Given the description of an element on the screen output the (x, y) to click on. 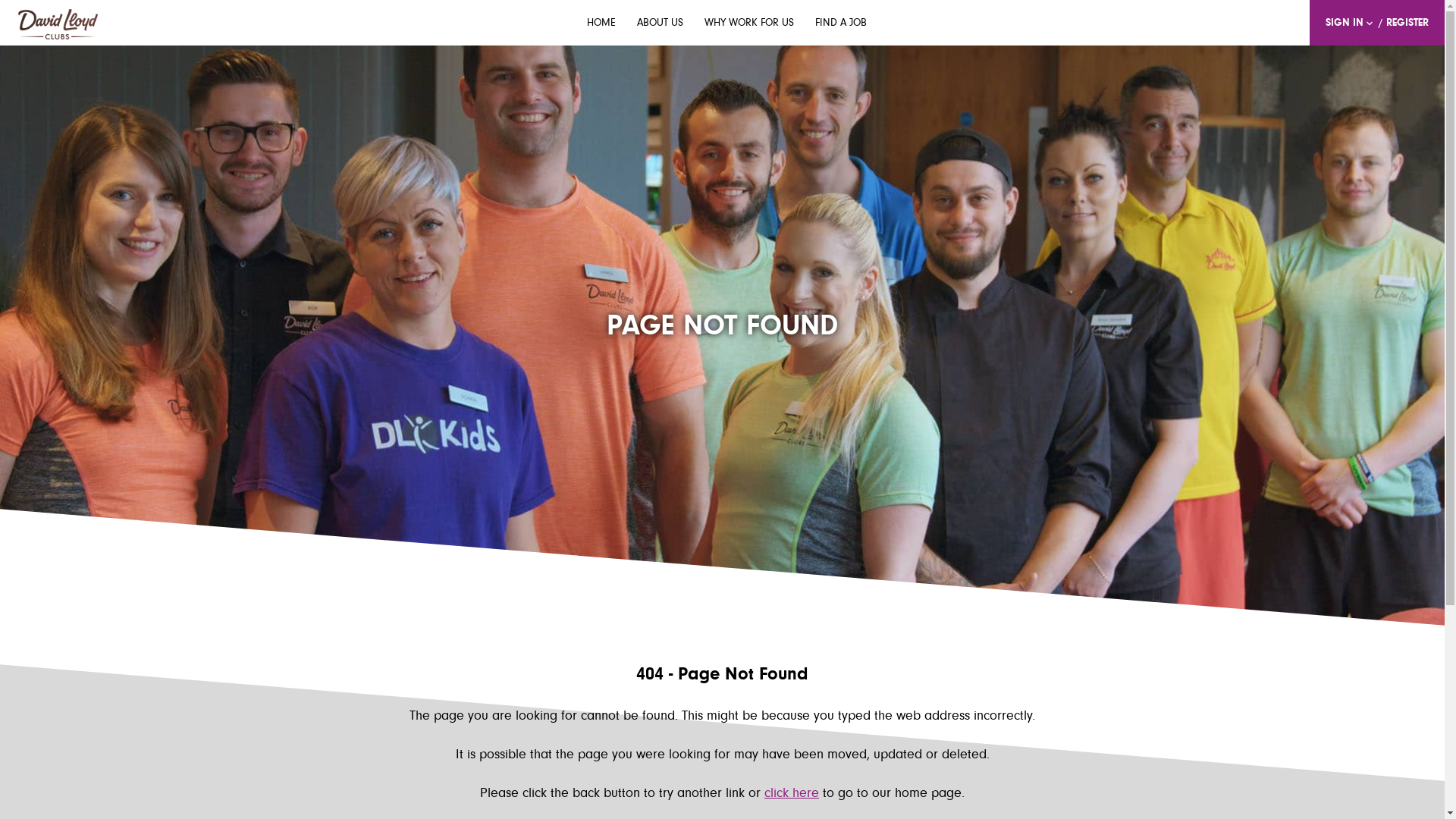
click here Element type: text (791, 793)
WHY WORK FOR US Element type: text (748, 23)
SIGN IN Element type: text (1350, 23)
ABOUT US Element type: text (660, 23)
FIND A JOB Element type: text (840, 23)
HOME Element type: text (600, 23)
REGISTER Element type: text (1407, 23)
